Given the description of an element on the screen output the (x, y) to click on. 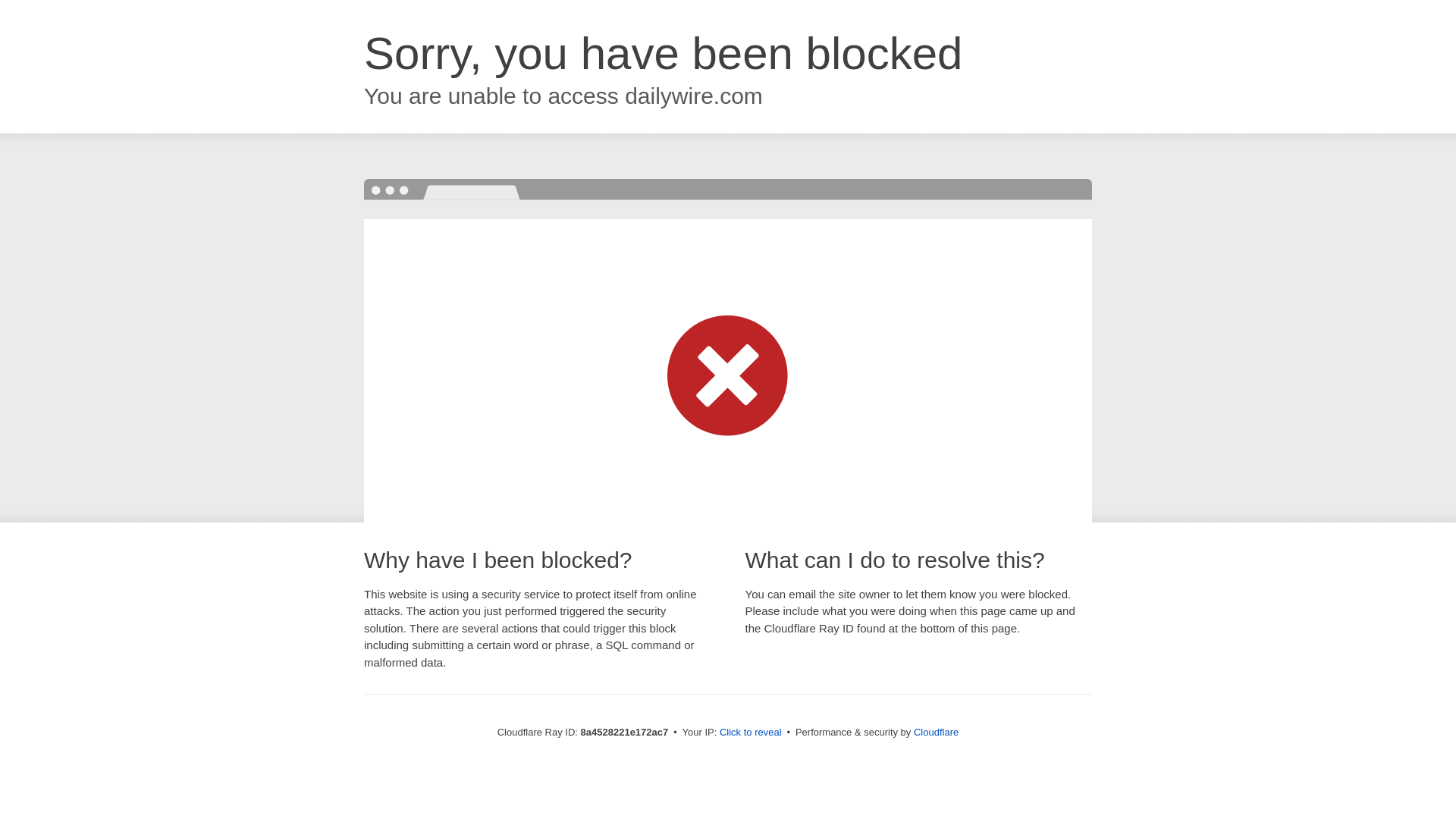
Click to reveal (750, 732)
Cloudflare (936, 731)
